Given the description of an element on the screen output the (x, y) to click on. 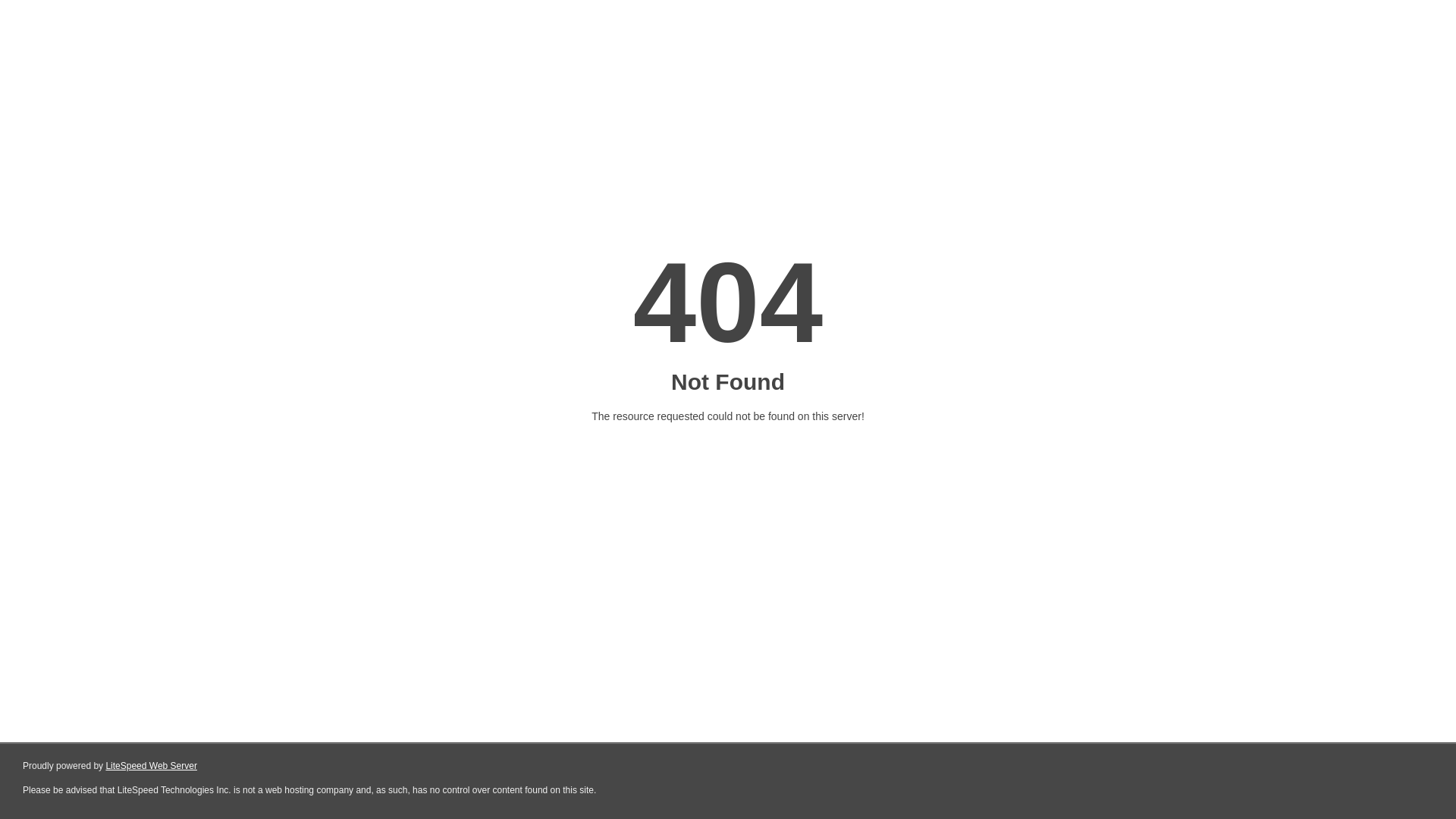
LiteSpeed Web Server Element type: text (151, 765)
